Given the description of an element on the screen output the (x, y) to click on. 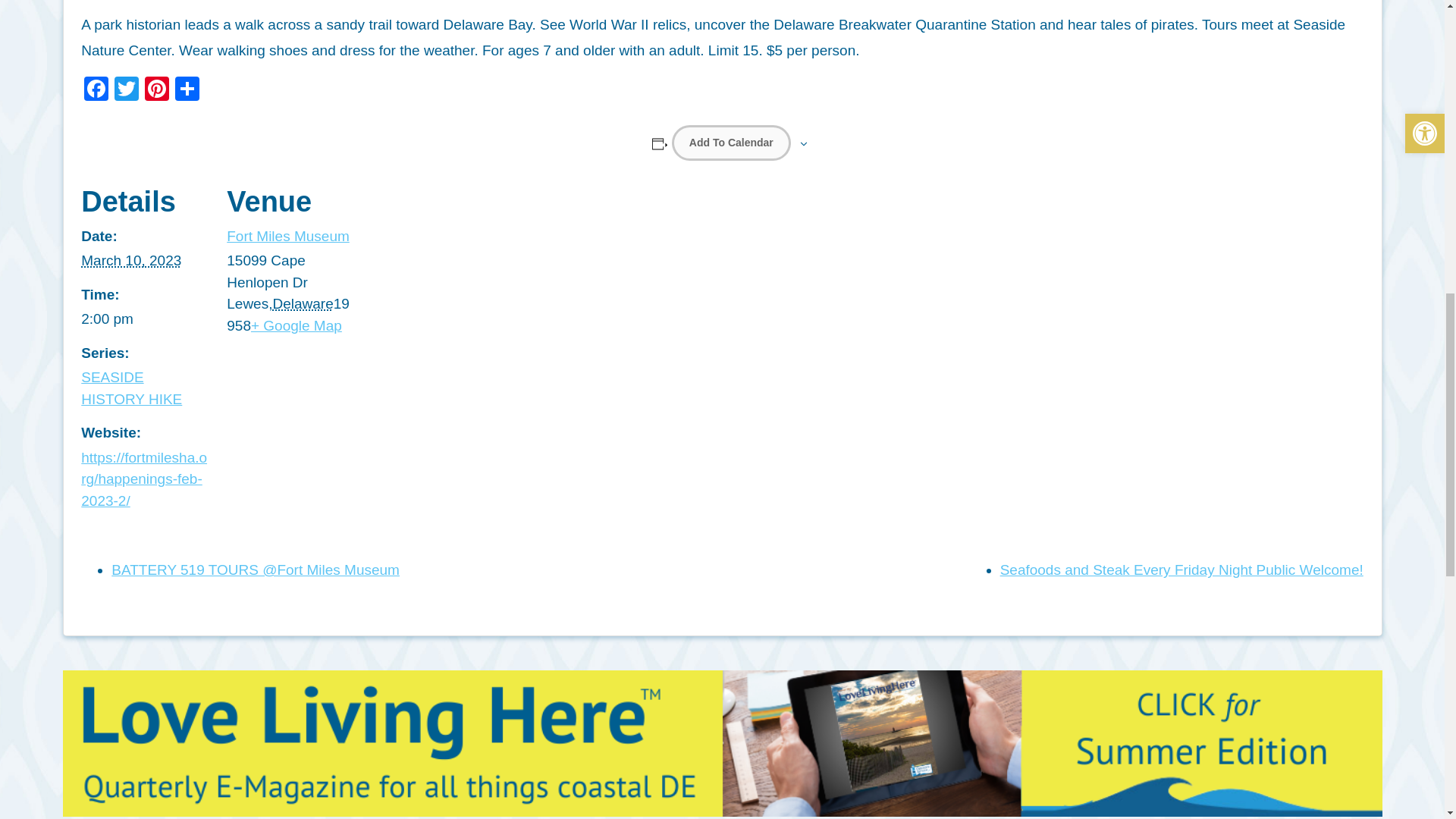
Twitter (126, 90)
2023-03-10 (130, 260)
Delaware (302, 303)
Facebook (96, 90)
SEASIDE HISTORY HIKE (131, 388)
Pinterest (156, 90)
Add To Calendar (730, 142)
Pinterest (156, 90)
Facebook (96, 90)
Twitter (126, 90)
2023-03-10 (144, 319)
Seafoods and Steak Every Friday Night Public Welcome! (1181, 569)
Fort Miles Museum (288, 236)
SEASIDE HISTORY HIKE (131, 388)
